Given the description of an element on the screen output the (x, y) to click on. 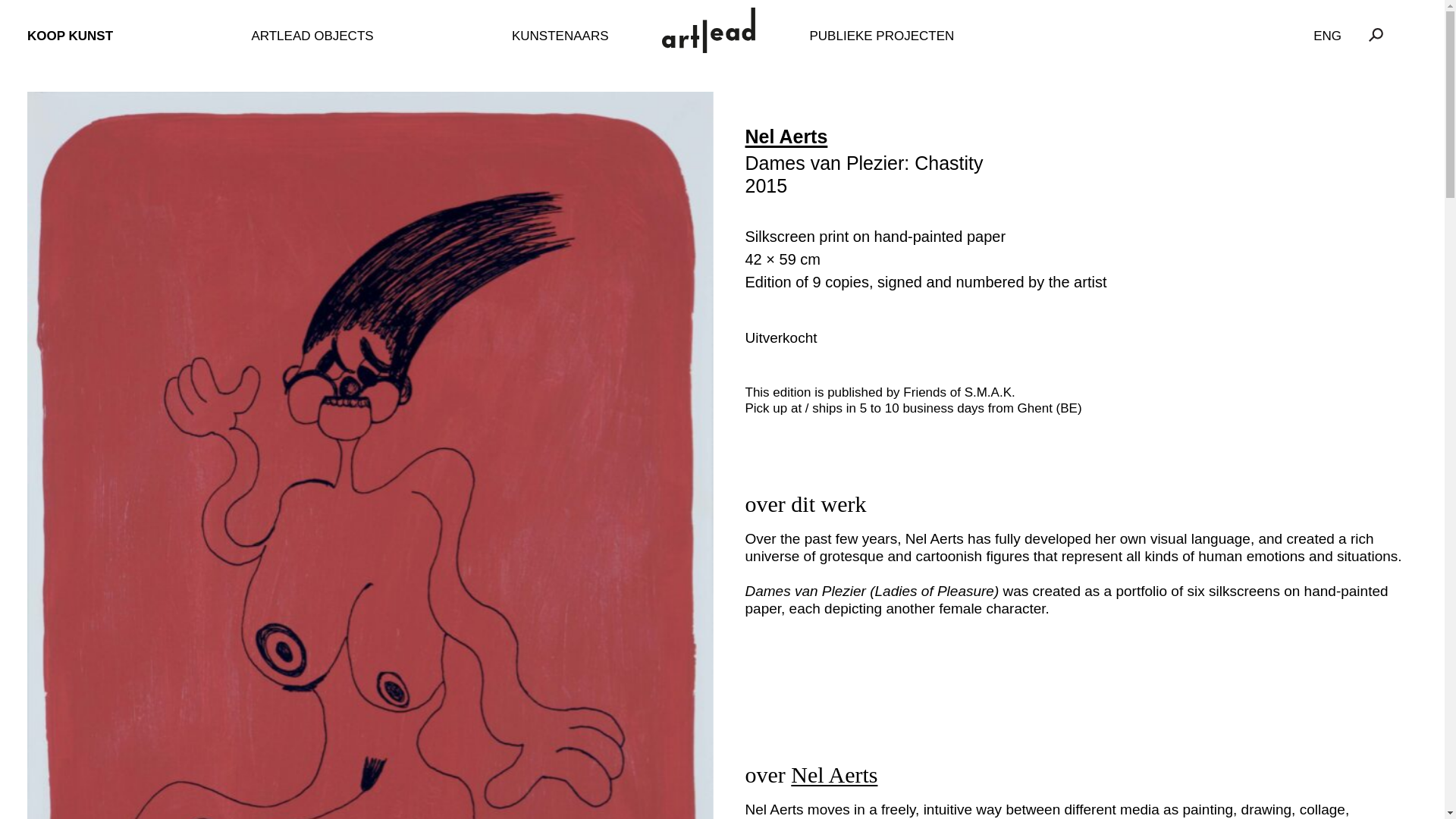
KUNSTENAARS (560, 35)
Nel Aerts (833, 774)
Nel Aerts (785, 136)
artlead (722, 35)
ARTLEAD OBJECTS (311, 35)
KOOP KUNST (70, 35)
PUBLIEKE PROJECTEN (882, 35)
